Given the description of an element on the screen output the (x, y) to click on. 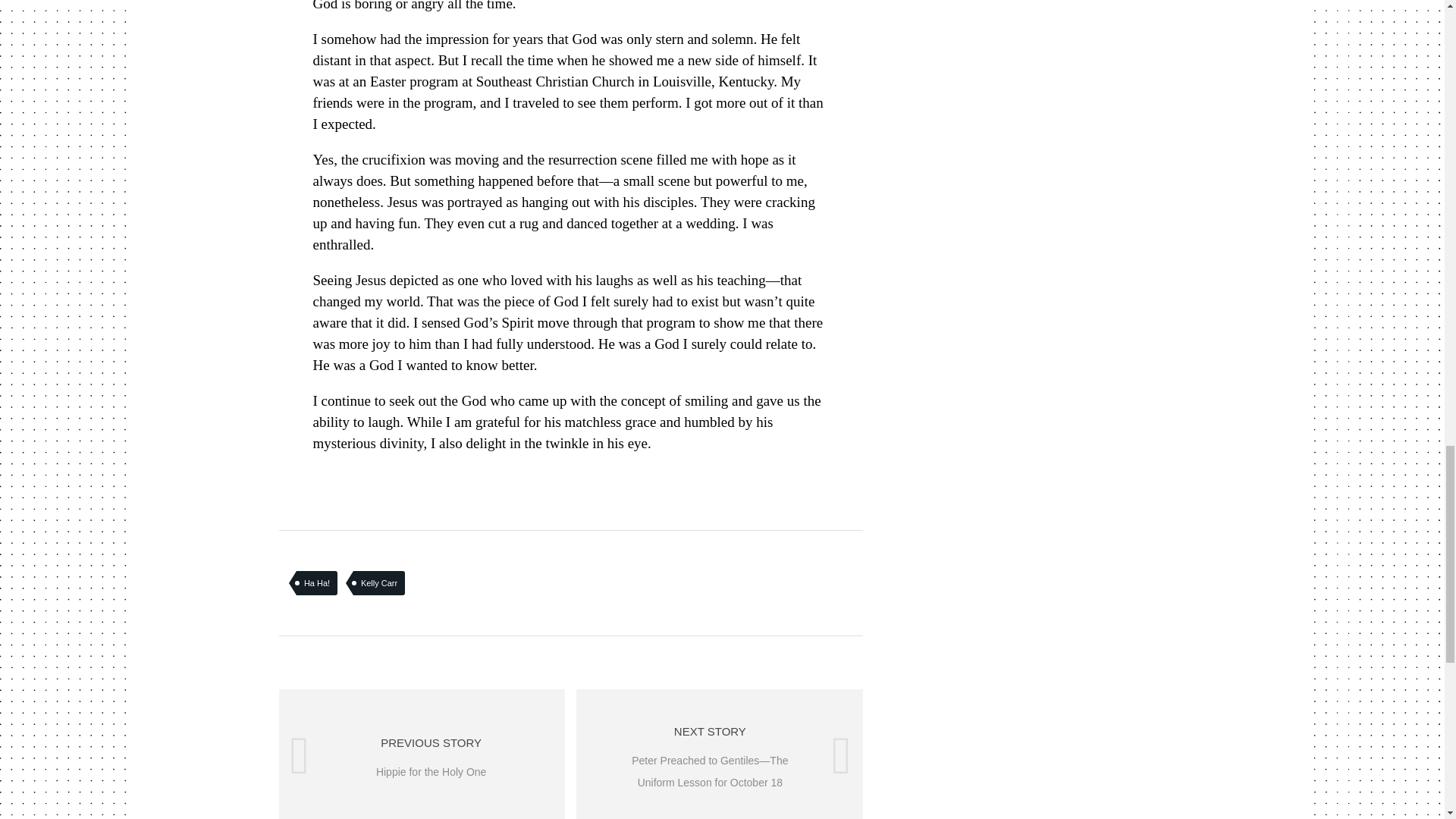
Kelly Carr (378, 582)
Ha Ha! (317, 582)
